Given the description of an element on the screen output the (x, y) to click on. 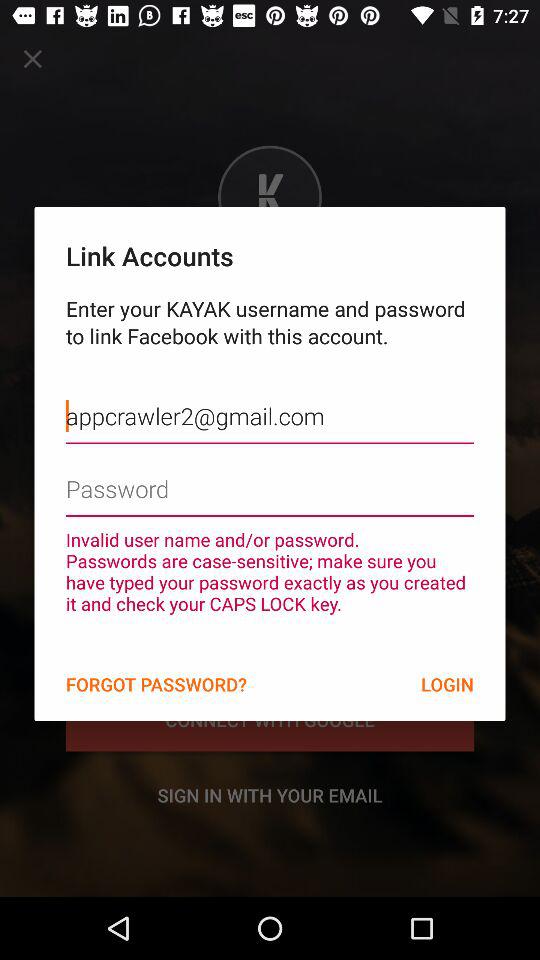
press icon below enter your kayak icon (269, 401)
